Given the description of an element on the screen output the (x, y) to click on. 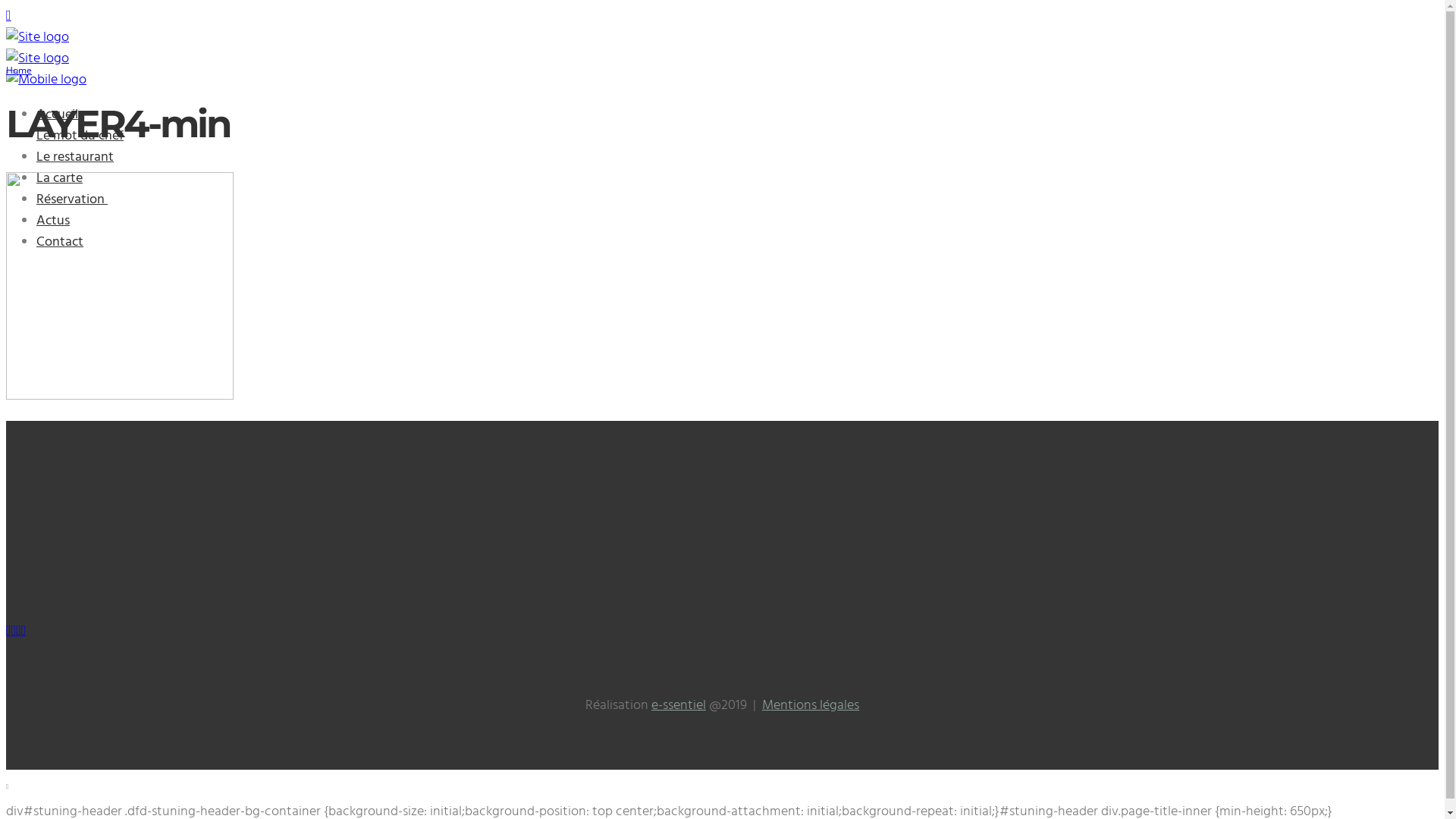
e-ssentiel Element type: text (678, 705)
Accueil  Element type: text (58, 114)
Contact Element type: text (59, 242)
Site logo Element type: hover (37, 37)
Home Element type: text (18, 69)
Actus Element type: text (52, 221)
Site logo Element type: hover (46, 80)
Site logo Element type: hover (37, 58)
La carte Element type: text (59, 178)
Le mot du chef Element type: text (79, 136)
Le restaurant Element type: text (74, 157)
